Given the description of an element on the screen output the (x, y) to click on. 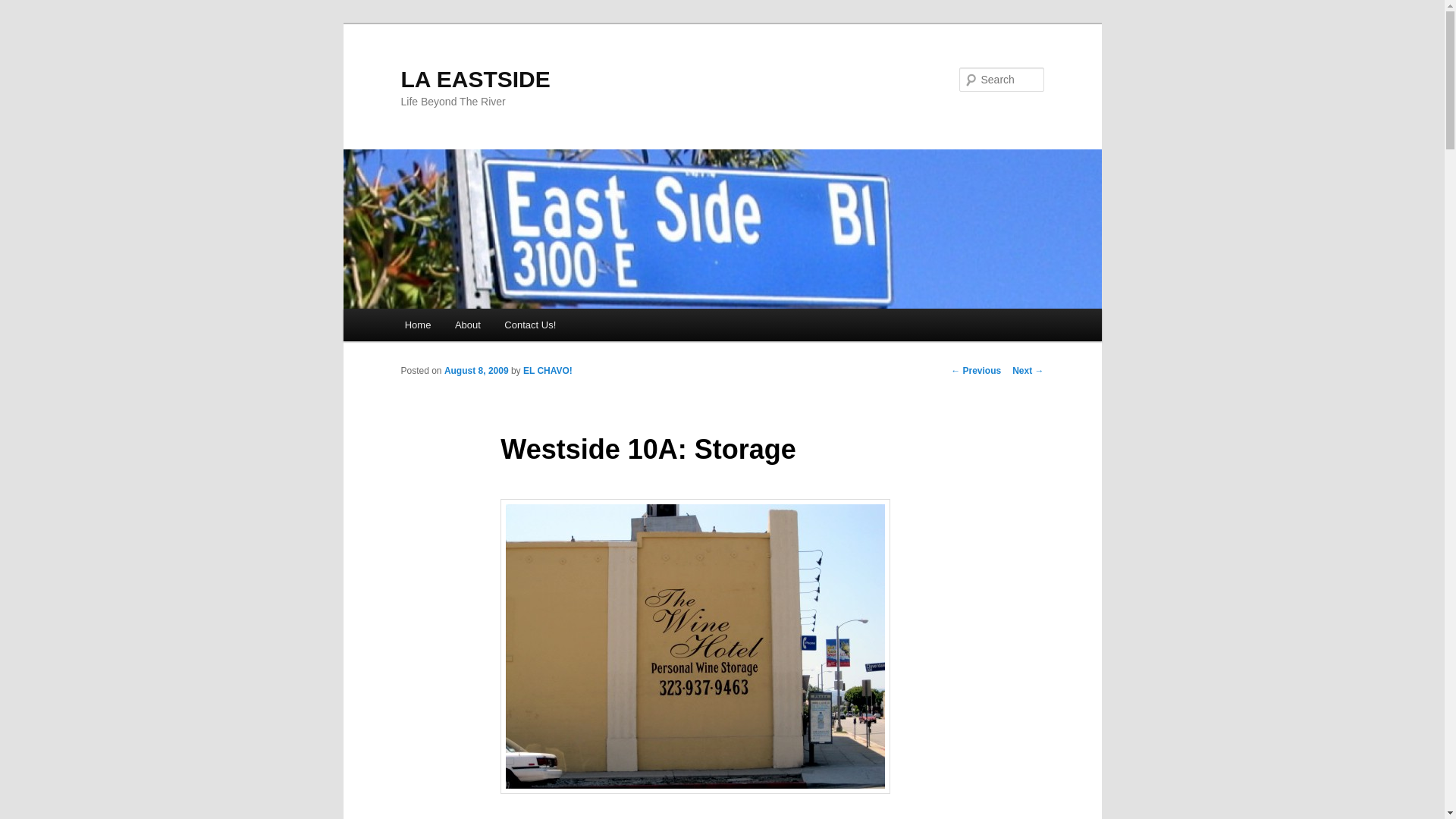
3:07 am (476, 370)
storage1 (694, 645)
Search (24, 8)
LA EASTSIDE (475, 78)
Home (417, 324)
Contact Us! (530, 324)
EL CHAVO! (547, 370)
View all posts by EL CHAVO! (547, 370)
August 8, 2009 (476, 370)
About (467, 324)
